Given the description of an element on the screen output the (x, y) to click on. 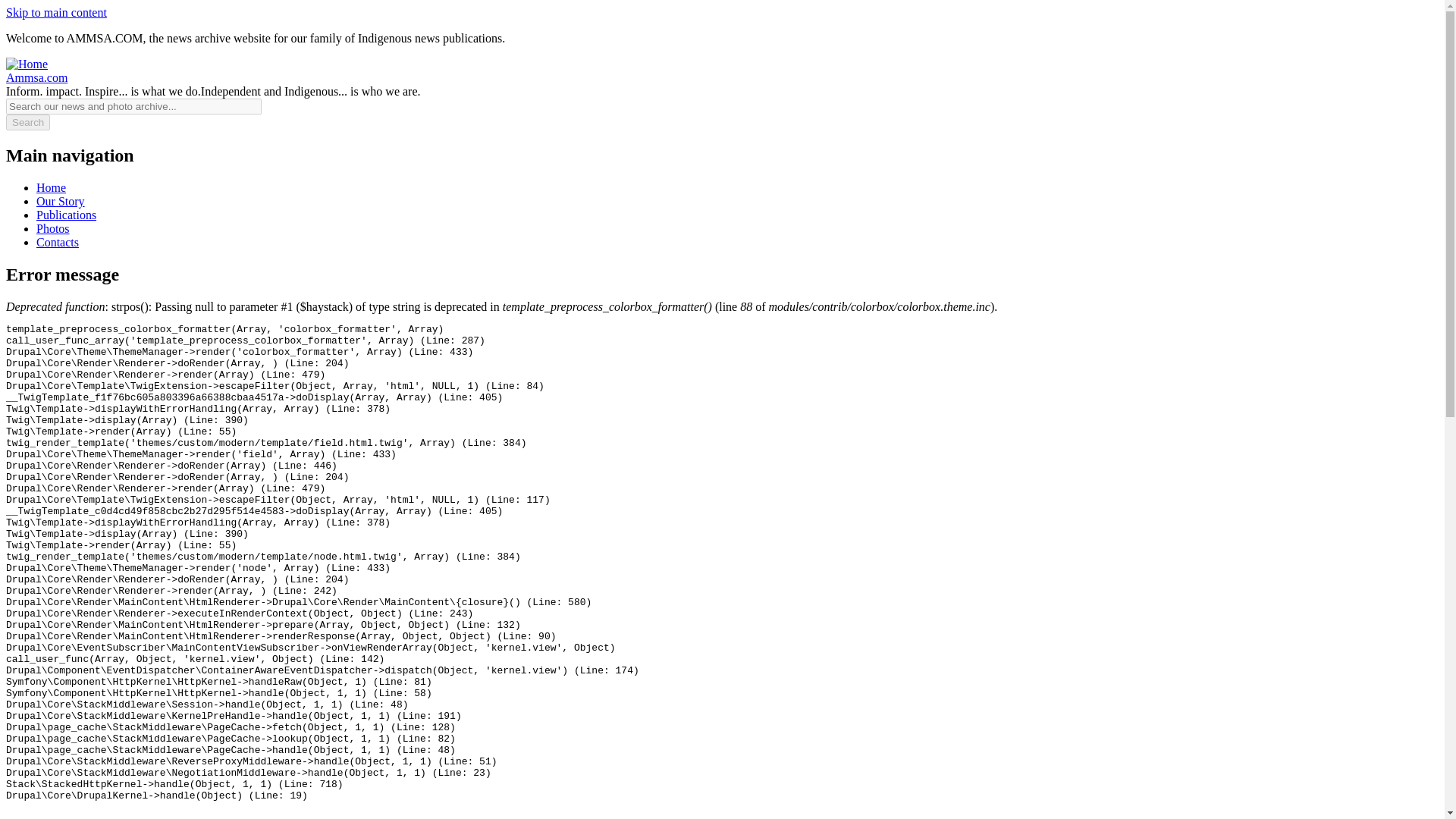
Skip to main content (55, 11)
Search (27, 122)
View the Photos Albums (52, 228)
Photos (52, 228)
Ammsa.com (35, 77)
Home (50, 187)
Contacts (57, 241)
Search (27, 122)
Our Story (60, 201)
Home (35, 77)
